Given the description of an element on the screen output the (x, y) to click on. 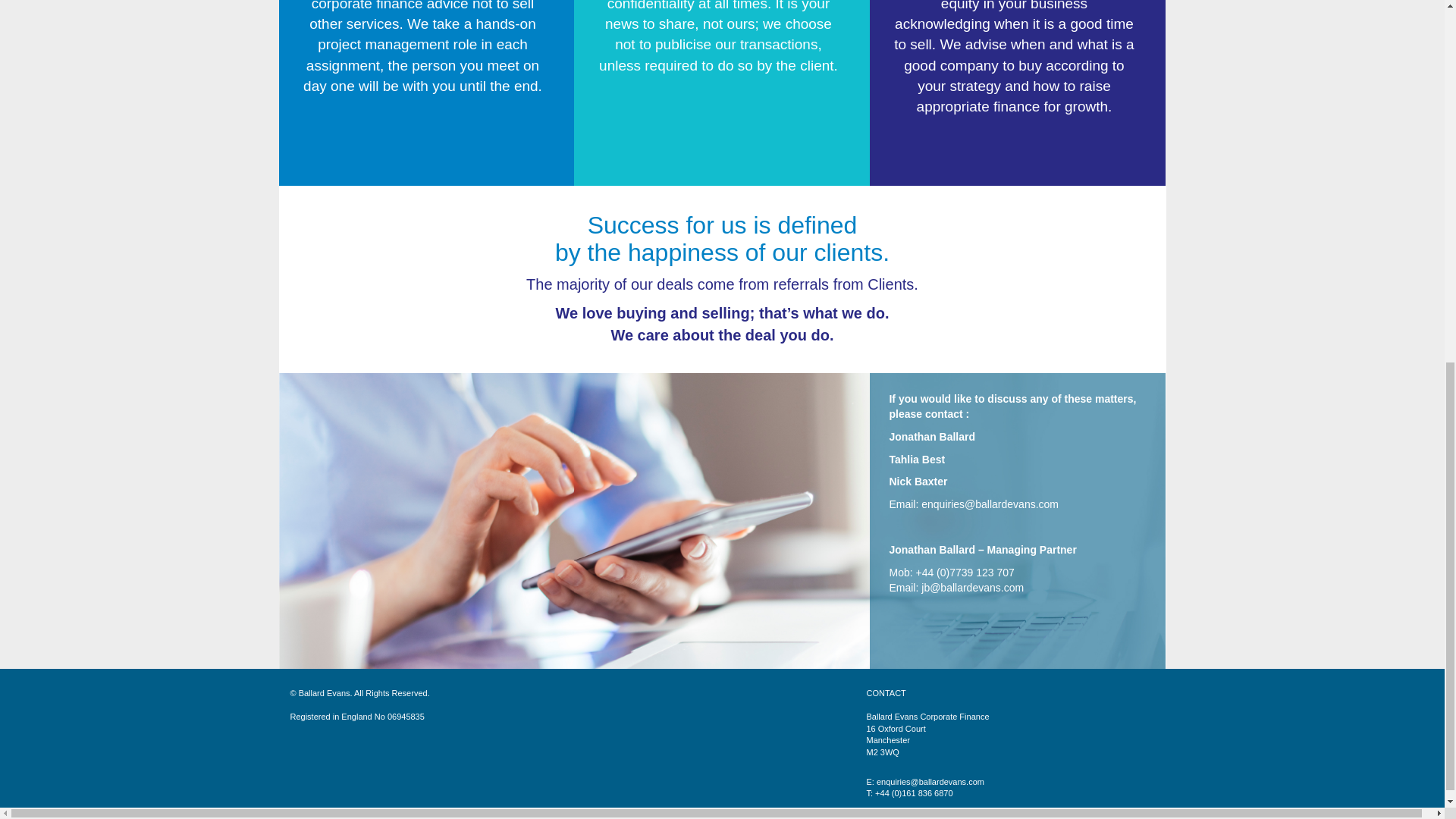
Nick Baxter (917, 481)
Tahlia Best (916, 459)
Jonathan Ballard (931, 436)
CONTACT (885, 692)
